Given the description of an element on the screen output the (x, y) to click on. 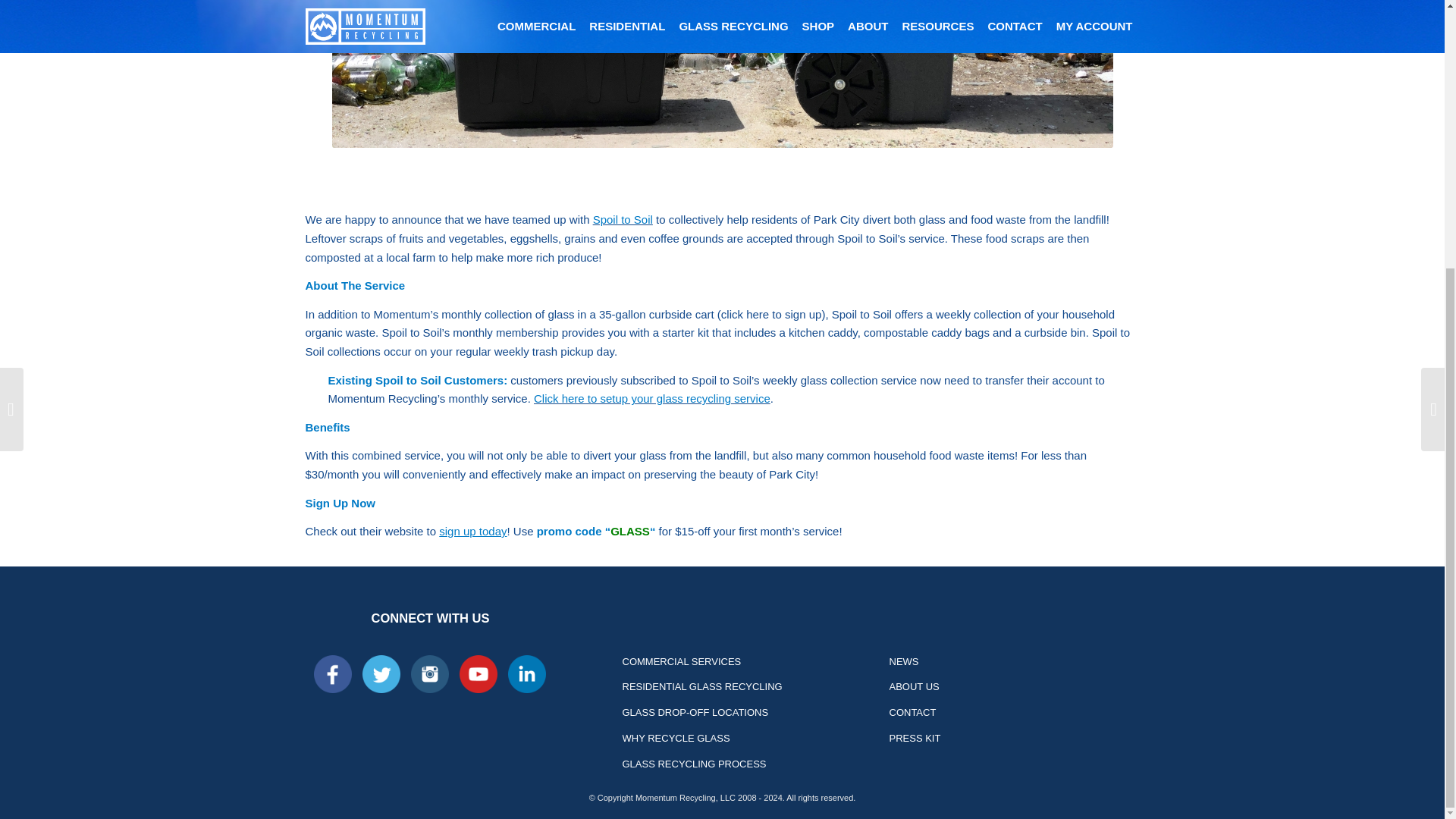
Residential Glass Recycling (746, 687)
STS Bin to MR Cart (722, 74)
Recycling Services (746, 662)
